Given the description of an element on the screen output the (x, y) to click on. 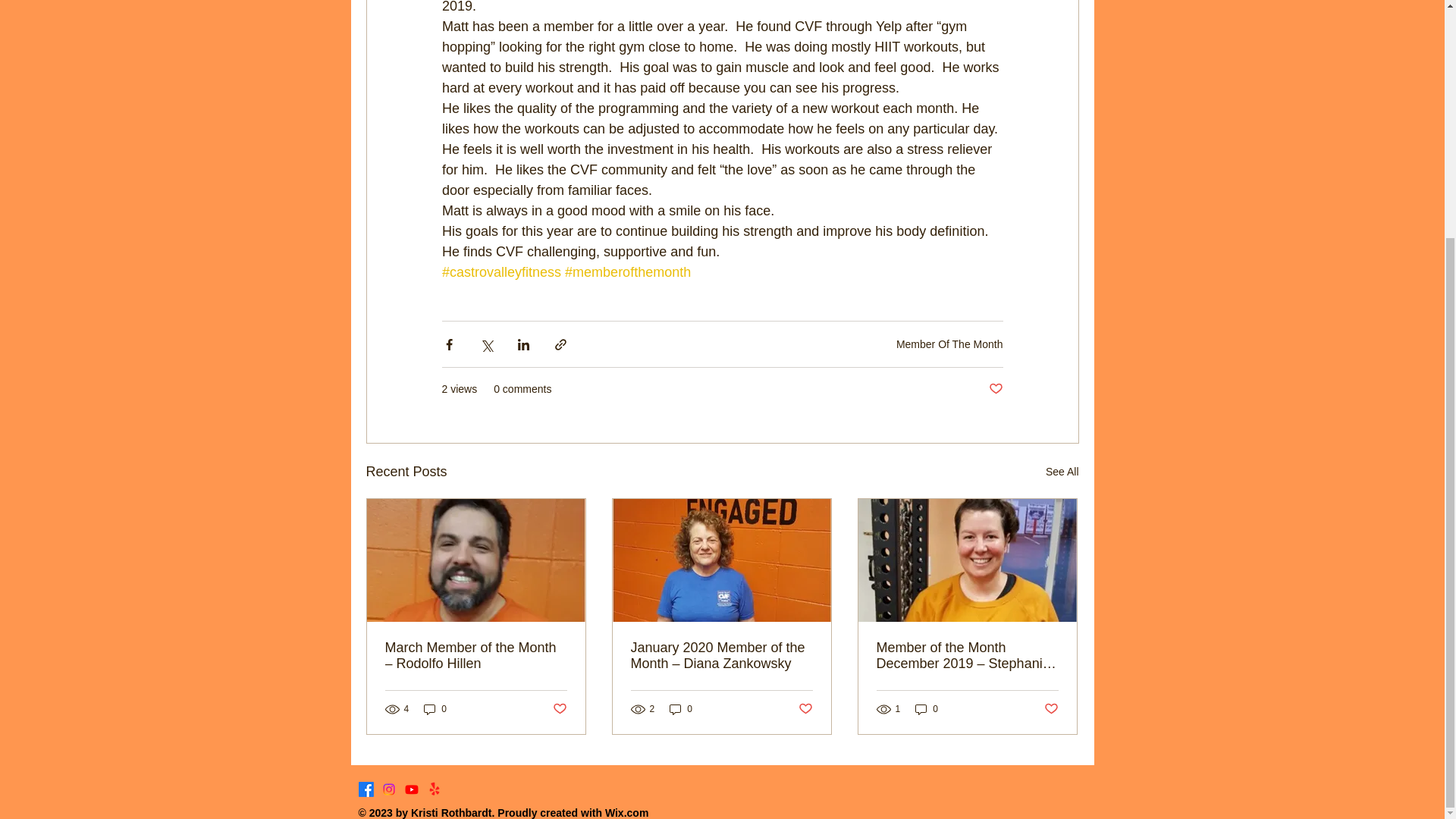
See All (1061, 472)
0 (926, 708)
Post not marked as liked (995, 389)
Member Of The Month (949, 343)
0 (435, 708)
Post not marked as liked (804, 709)
Post not marked as liked (1050, 709)
0 (681, 708)
Post not marked as liked (558, 709)
